Given the description of an element on the screen output the (x, y) to click on. 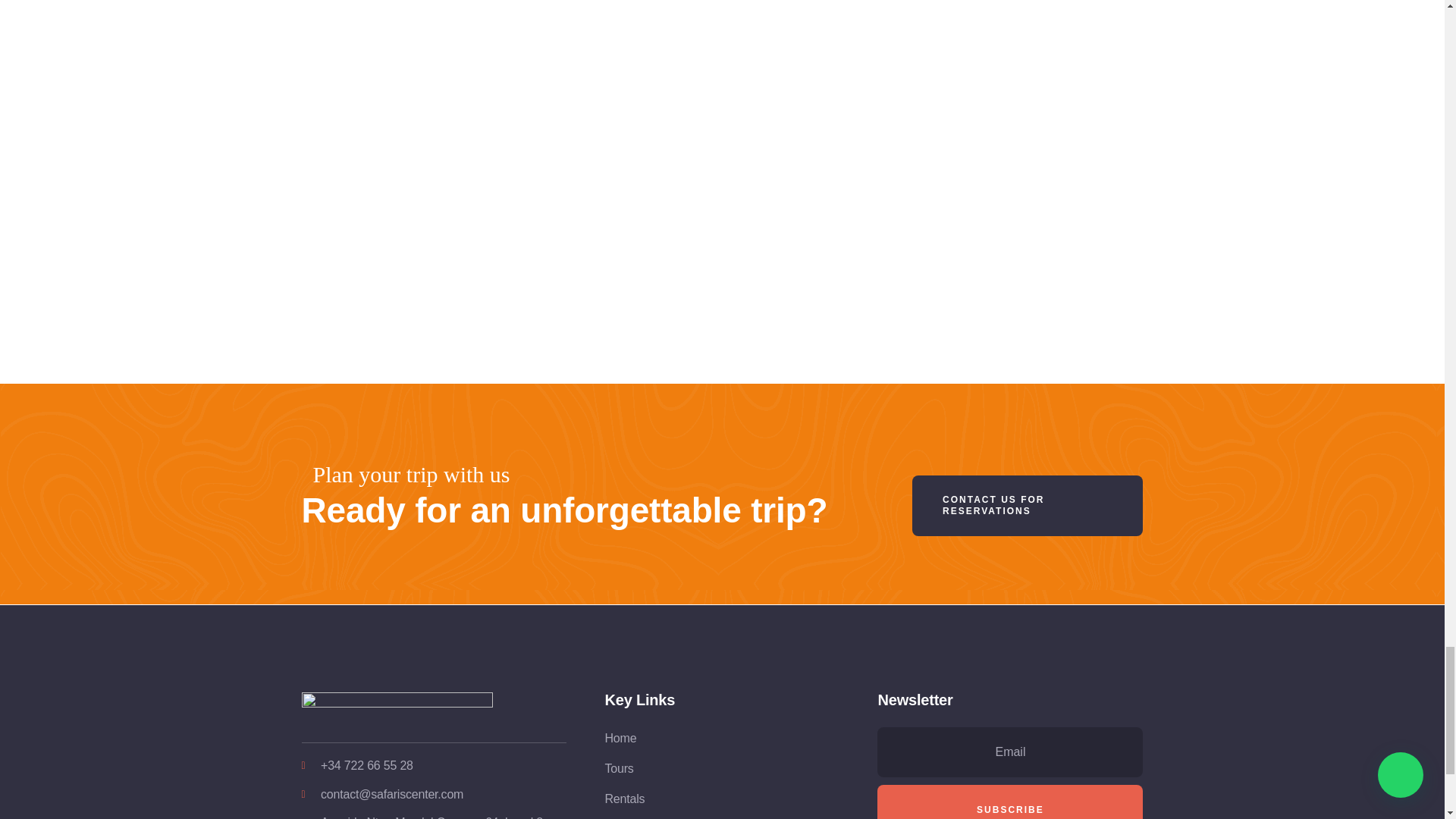
Subscribe (1009, 801)
